Given the description of an element on the screen output the (x, y) to click on. 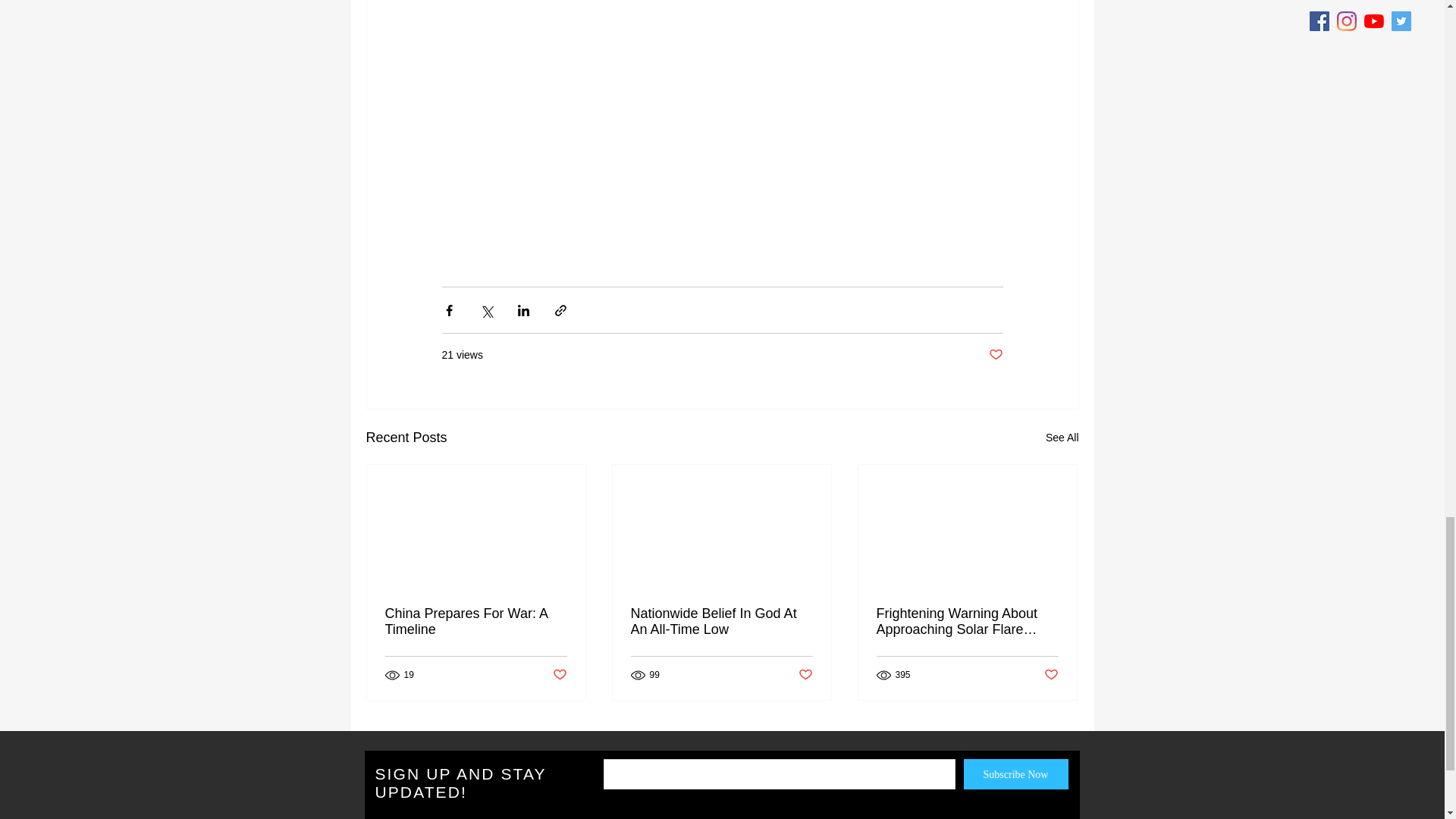
Subscribe Now (1014, 774)
Post not marked as liked (995, 355)
Nationwide Belief In God At An All-Time Low (721, 622)
Post not marked as liked (558, 675)
Post not marked as liked (804, 675)
China Prepares For War: A Timeline (476, 622)
See All (1061, 437)
Post not marked as liked (1050, 675)
